Given the description of an element on the screen output the (x, y) to click on. 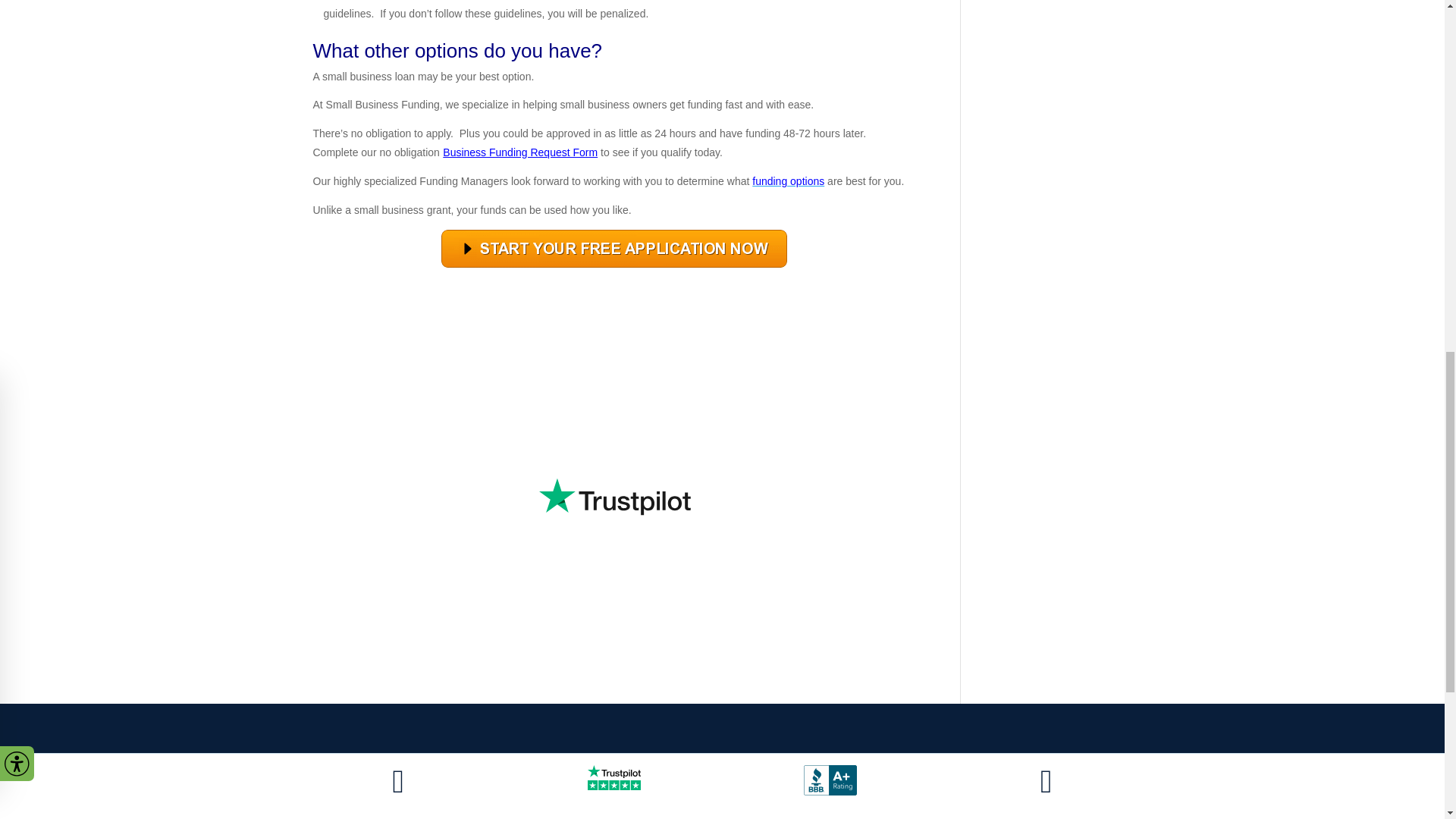
funding options (788, 181)
Business Funding Request Form (519, 152)
Start Application Now button (614, 248)
